Given the description of an element on the screen output the (x, y) to click on. 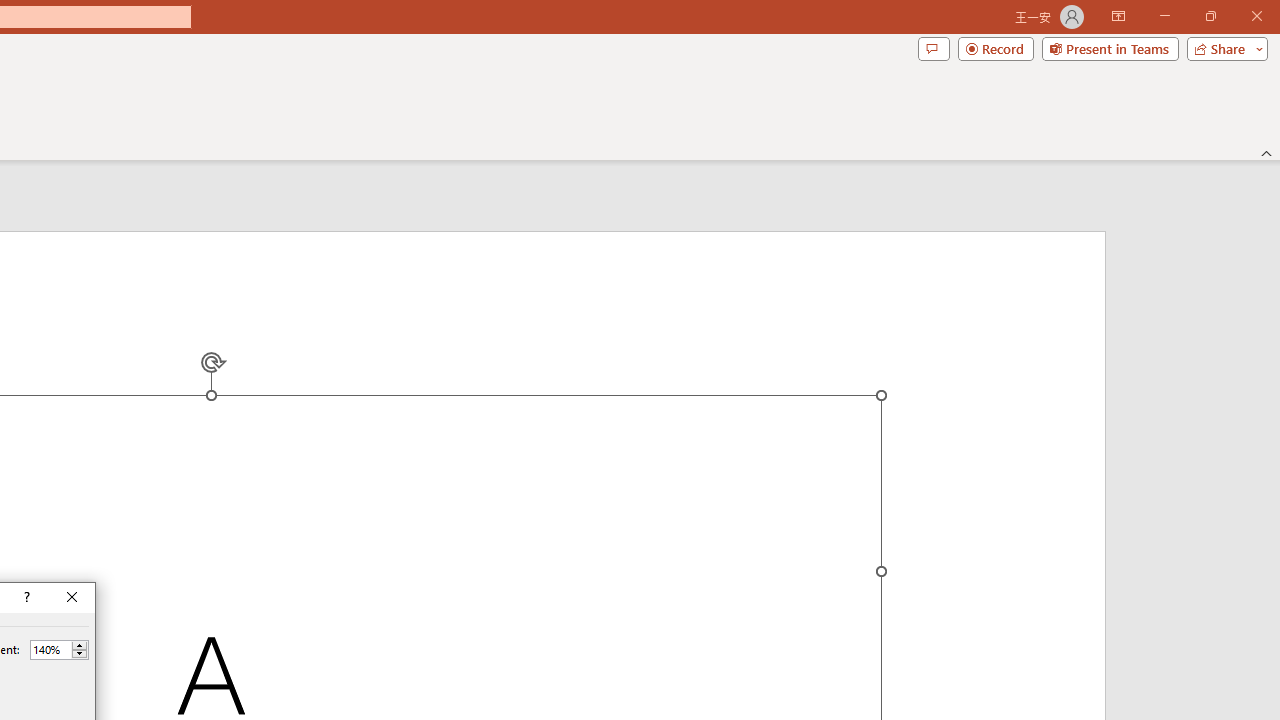
Percent (50, 649)
Context help (25, 597)
Percent (59, 650)
